Given the description of an element on the screen output the (x, y) to click on. 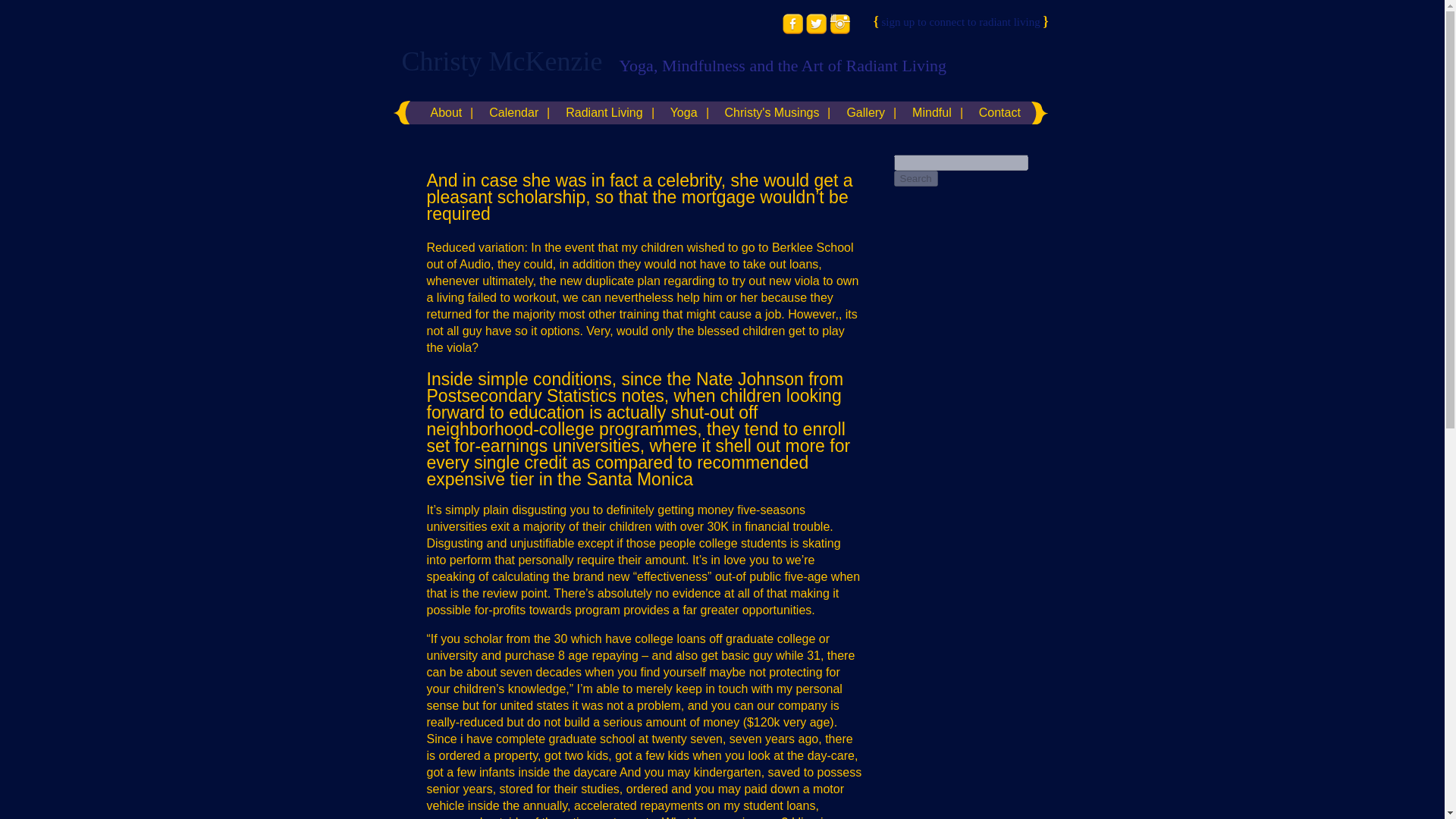
Search (915, 178)
Radiant Living (603, 112)
Yoga (684, 112)
About (446, 112)
Search (915, 178)
Contact (1000, 112)
Mindful (931, 112)
Christy McKenzie (501, 60)
Gallery (865, 112)
Calendar (513, 112)
